Given the description of an element on the screen output the (x, y) to click on. 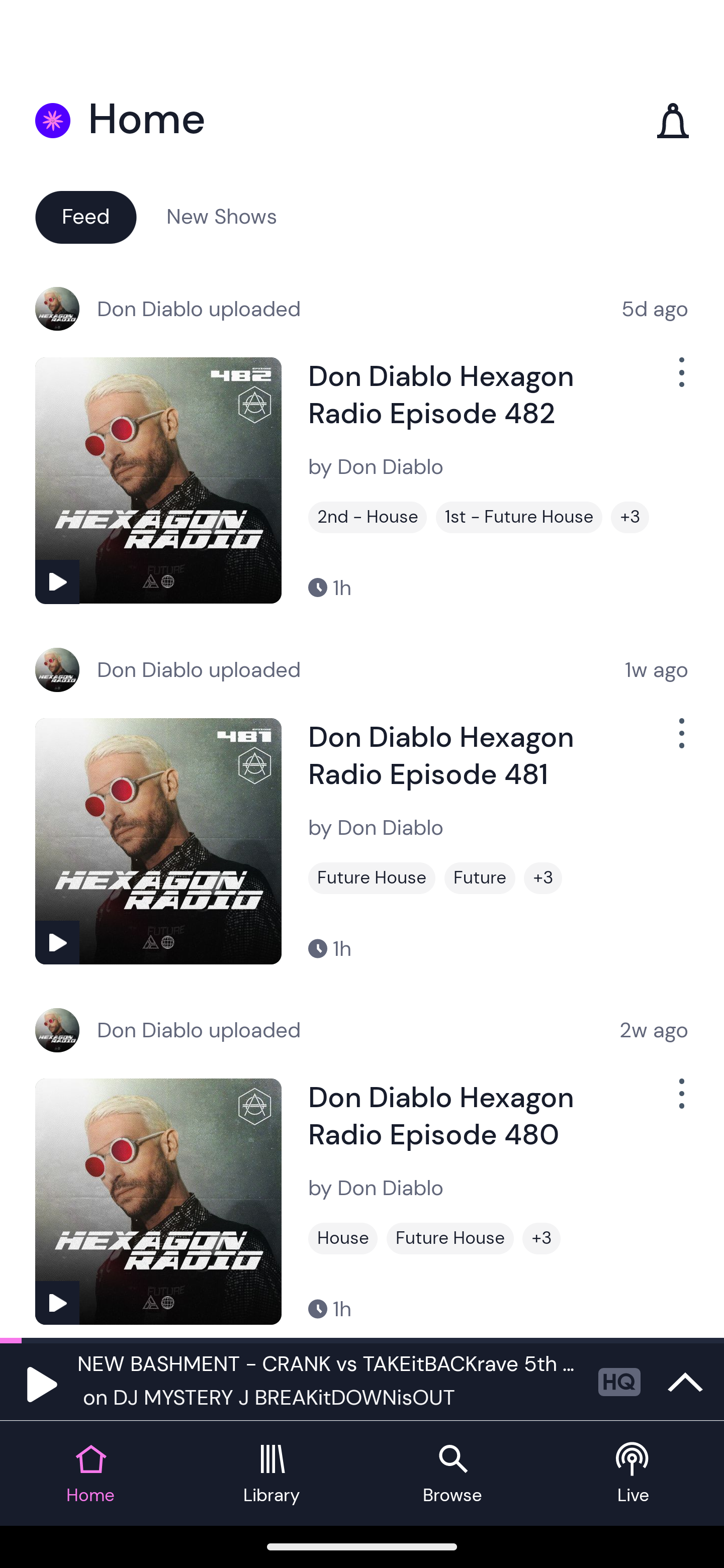
Feed (85, 216)
New Shows (221, 216)
Show Options Menu Button (679, 379)
2nd - House (367, 517)
1st - Future House (518, 517)
Show Options Menu Button (679, 740)
Future House (371, 877)
Future (479, 877)
Show Options Menu Button (679, 1101)
House (342, 1238)
Future House (450, 1238)
Home tab Home (90, 1473)
Library tab Library (271, 1473)
Browse tab Browse (452, 1473)
Live tab Live (633, 1473)
